Given the description of an element on the screen output the (x, y) to click on. 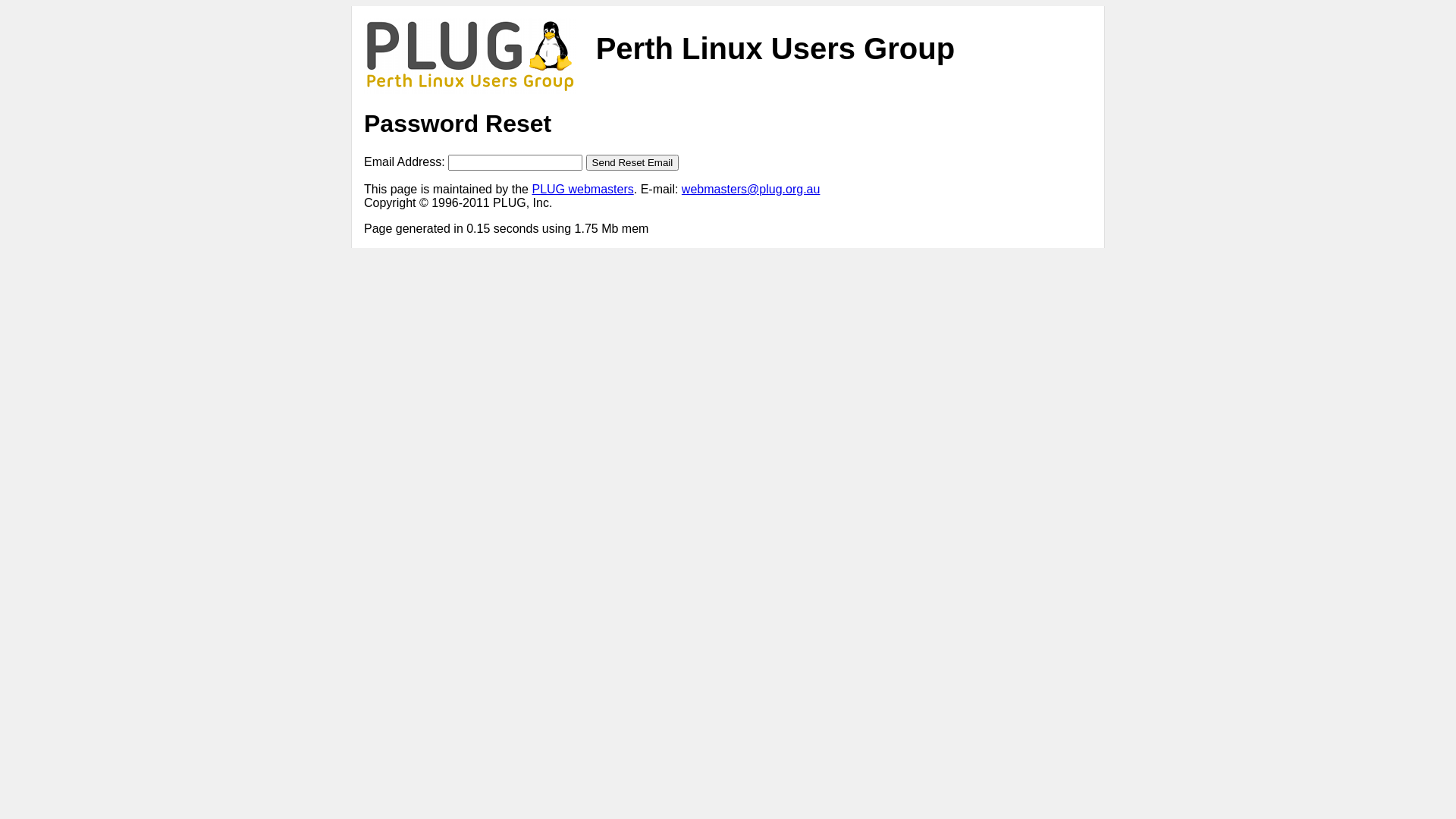
PLUG webmasters Element type: text (582, 188)
Send Reset Email Element type: text (632, 162)
webmasters@plug.org.au Element type: text (750, 188)
